Given the description of an element on the screen output the (x, y) to click on. 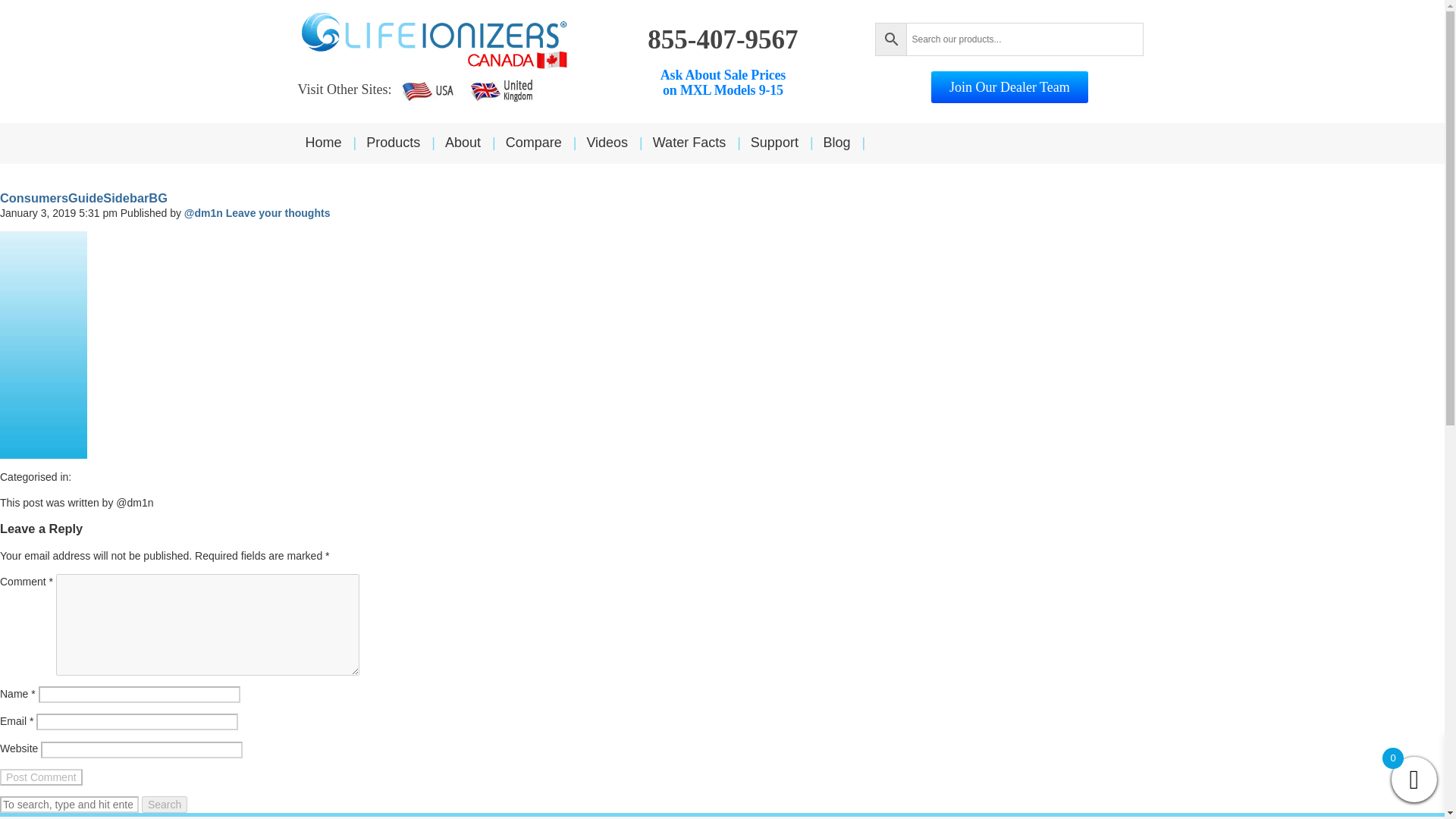
About (475, 142)
Join Our Dealer Team (1009, 87)
ConsumersGuideSidebarBG (83, 197)
Home (335, 142)
Post Comment (41, 777)
855-407-9567 (721, 142)
Products (722, 39)
Compare (723, 82)
